Given the description of an element on the screen output the (x, y) to click on. 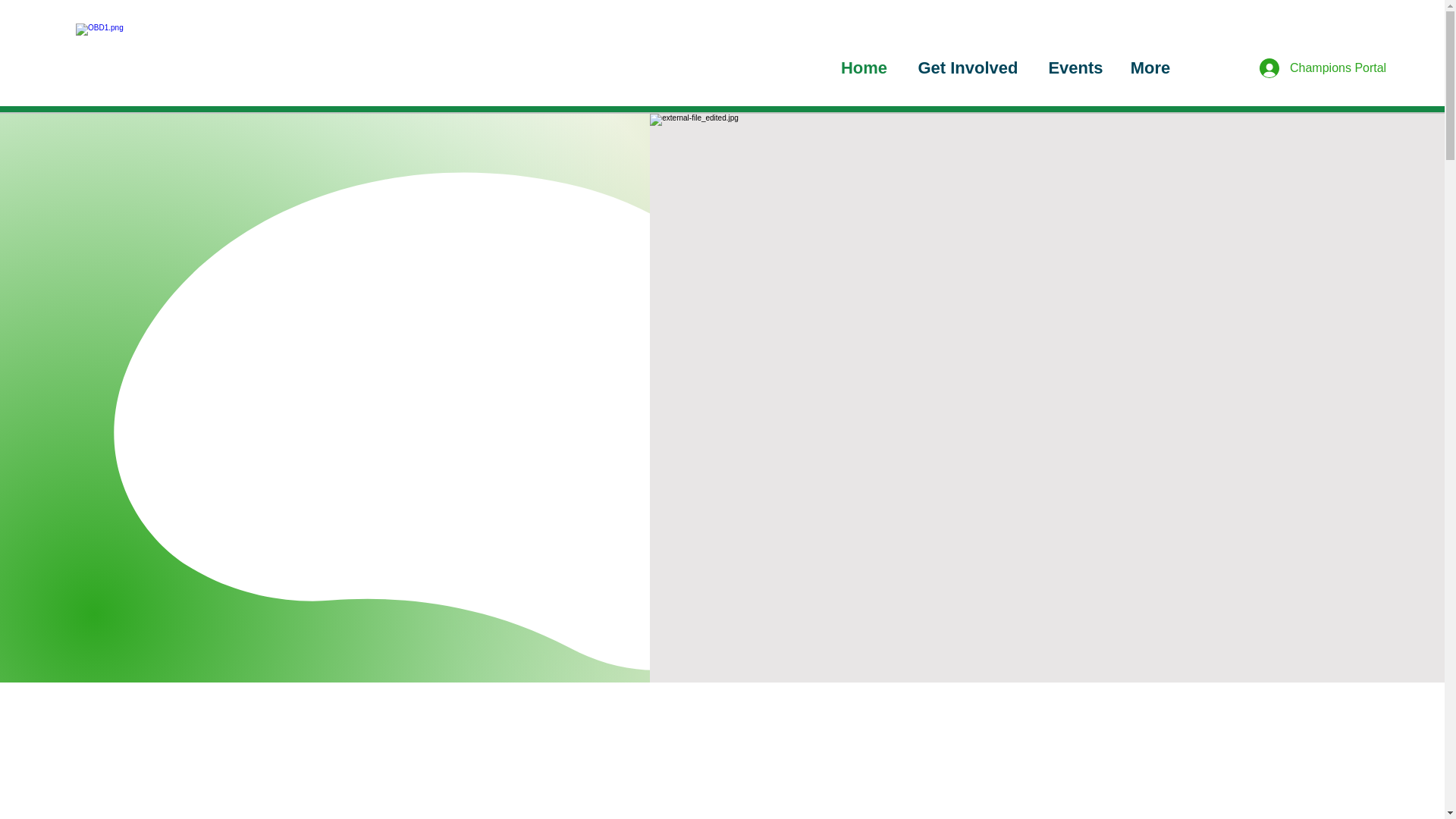
Champions Portal (1294, 68)
Home (864, 67)
Events (1074, 67)
